Given the description of an element on the screen output the (x, y) to click on. 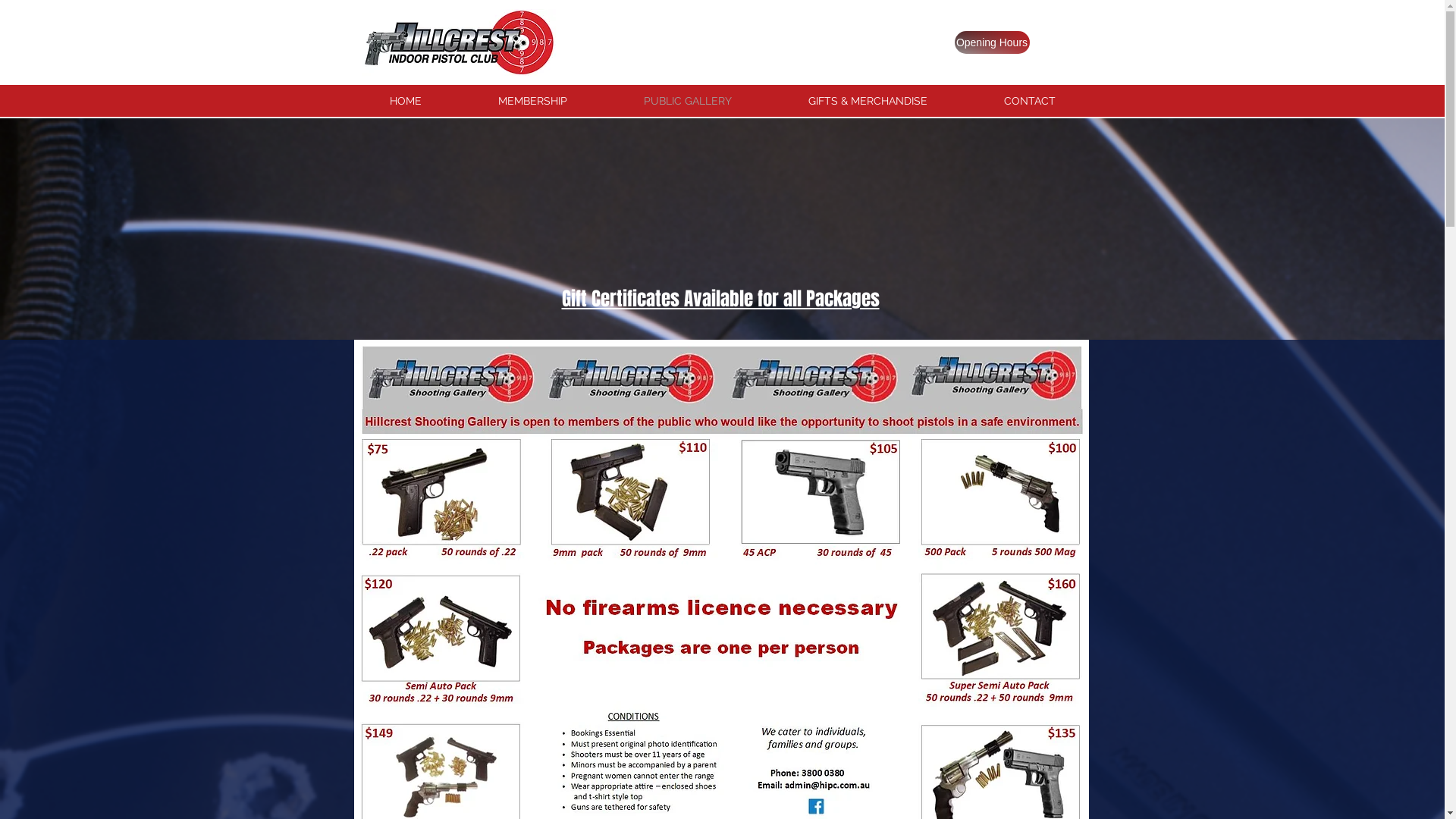
Opening Hours Element type: text (991, 42)
GIFTS & MERCHANDISE Element type: text (868, 100)
MEMBERSHIP Element type: text (532, 100)
HOME Element type: text (404, 100)
Gift Certificates Available for all Packages Element type: text (719, 298)
PUBLIC GALLERY Element type: text (687, 100)
CONTACT Element type: text (1030, 100)
